Given the description of an element on the screen output the (x, y) to click on. 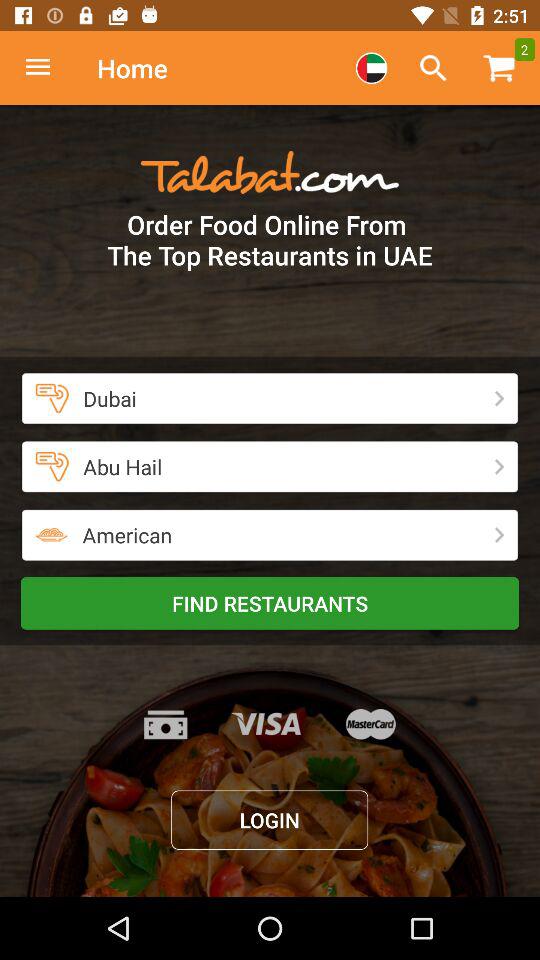
menu selection (371, 68)
